Given the description of an element on the screen output the (x, y) to click on. 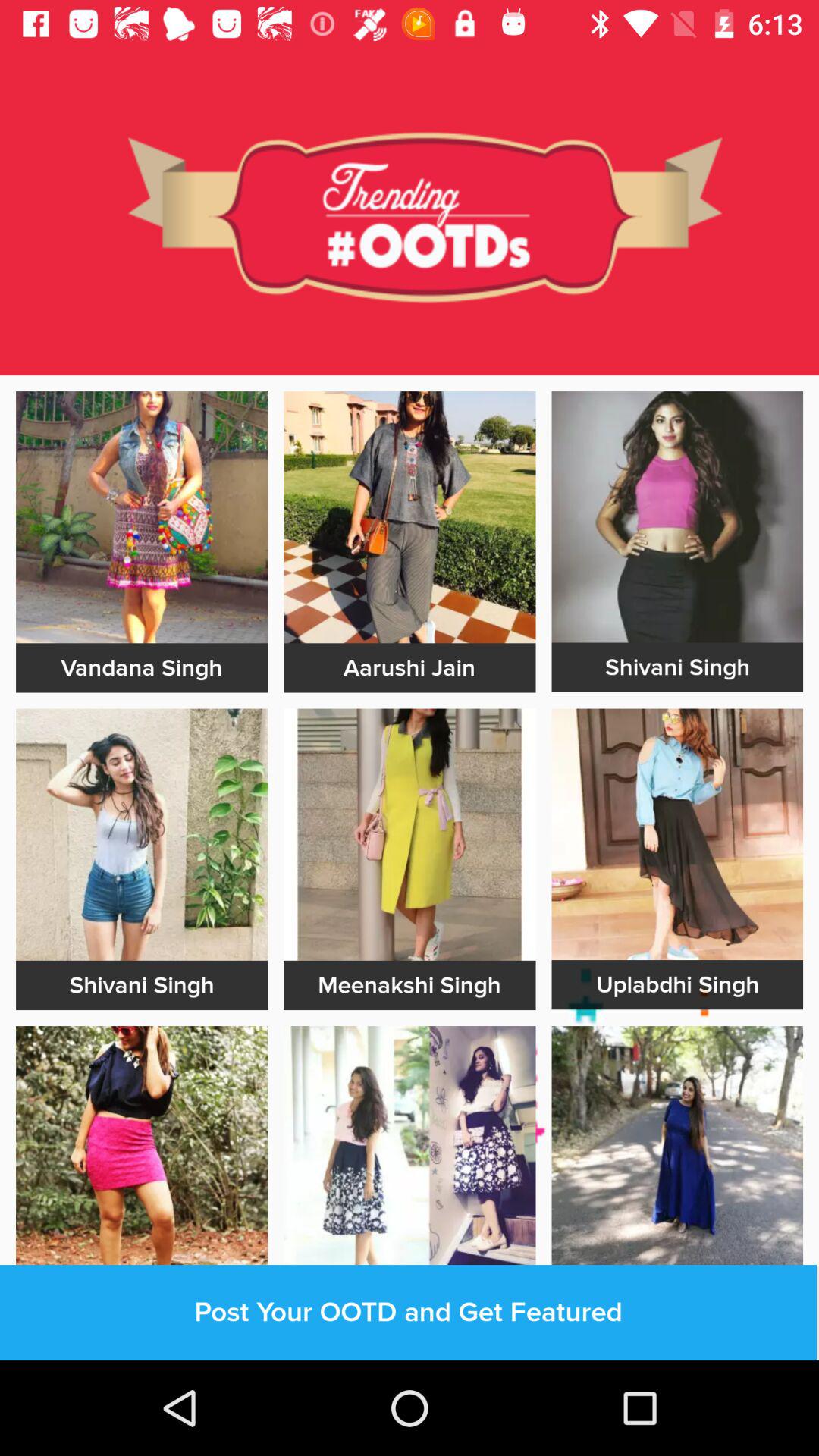
advertisement page (409, 517)
